Given the description of an element on the screen output the (x, y) to click on. 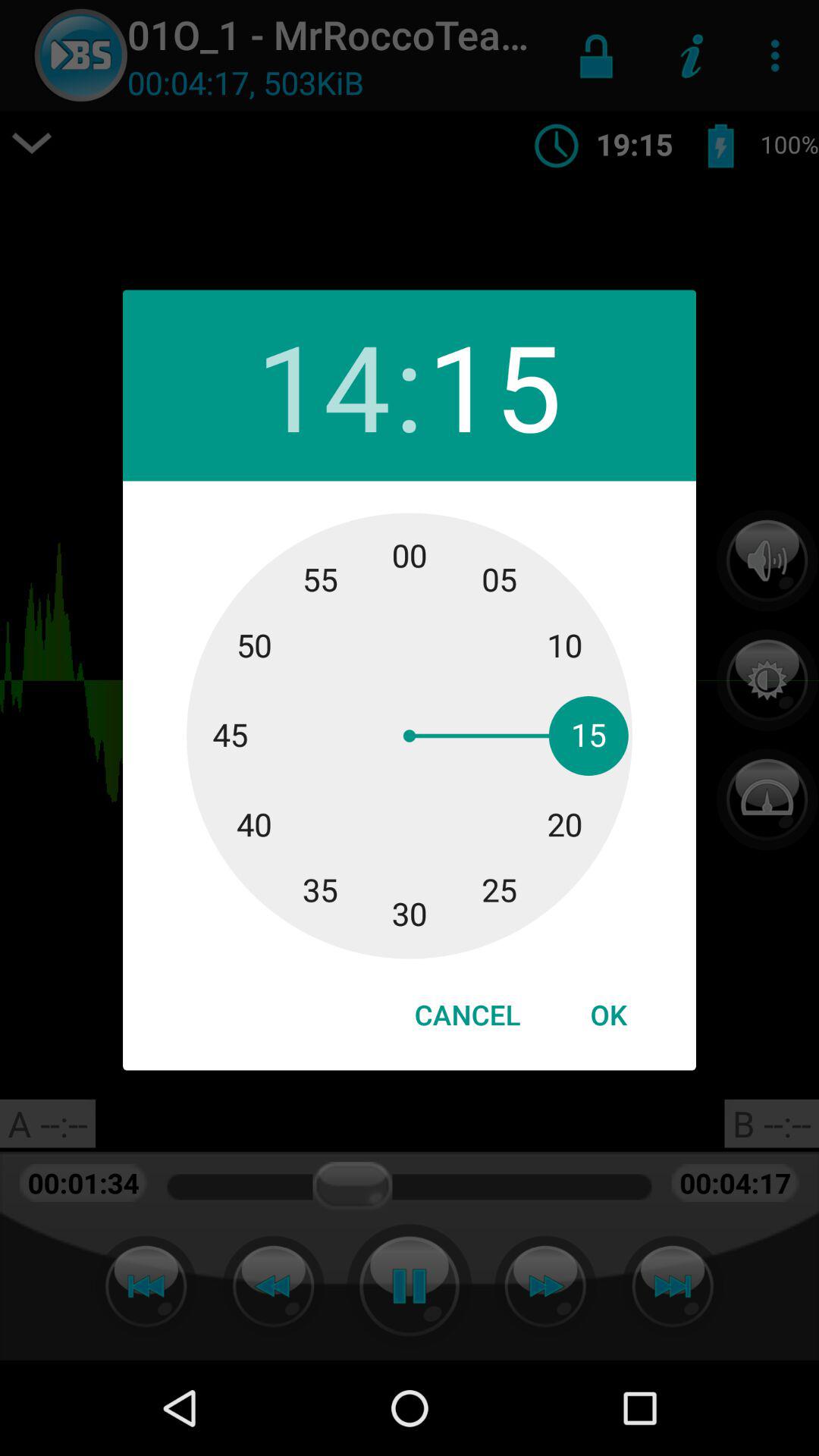
press the icon at the bottom right corner (608, 1014)
